Given the description of an element on the screen output the (x, y) to click on. 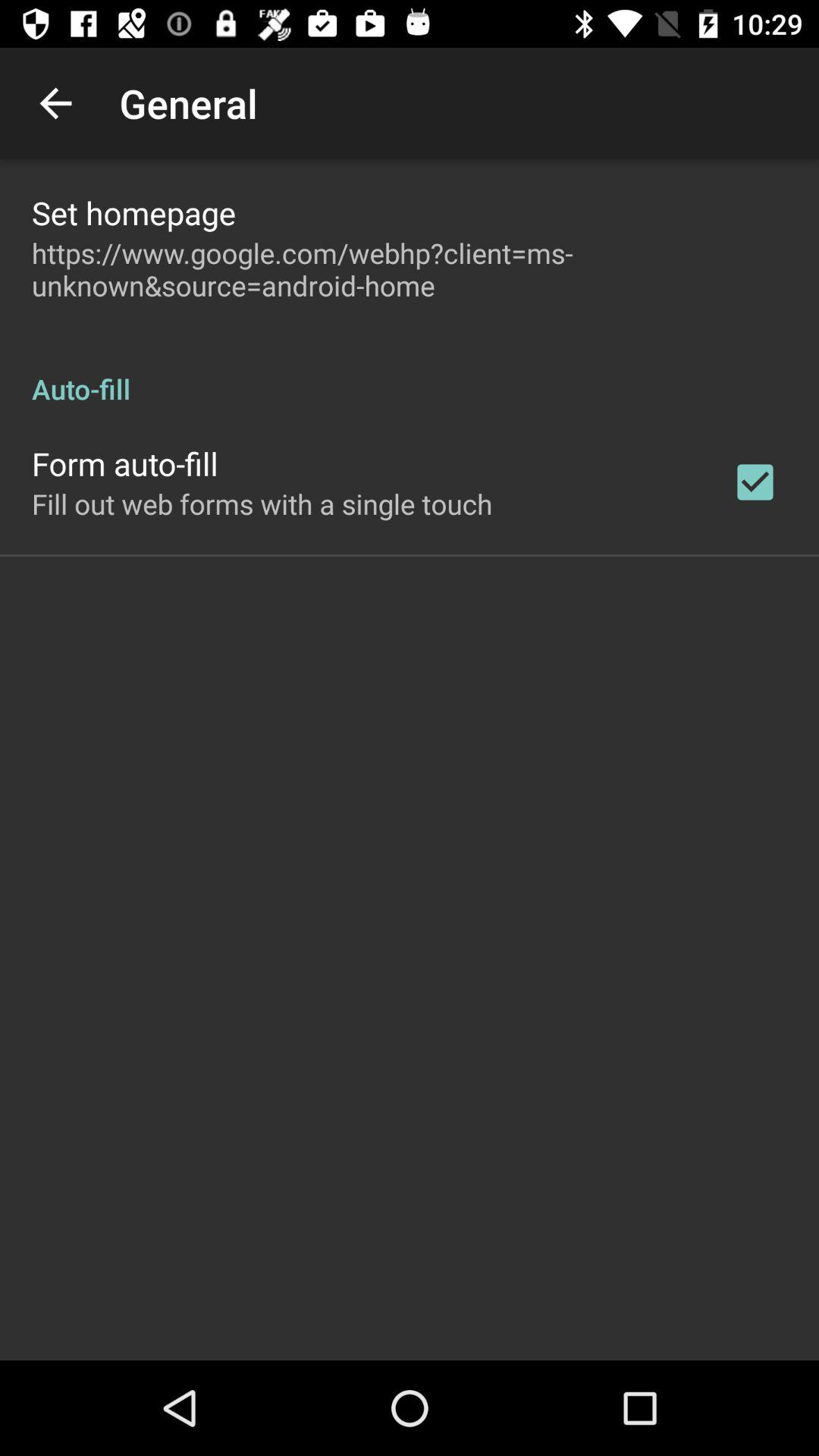
jump to the fill out web (261, 503)
